Given the description of an element on the screen output the (x, y) to click on. 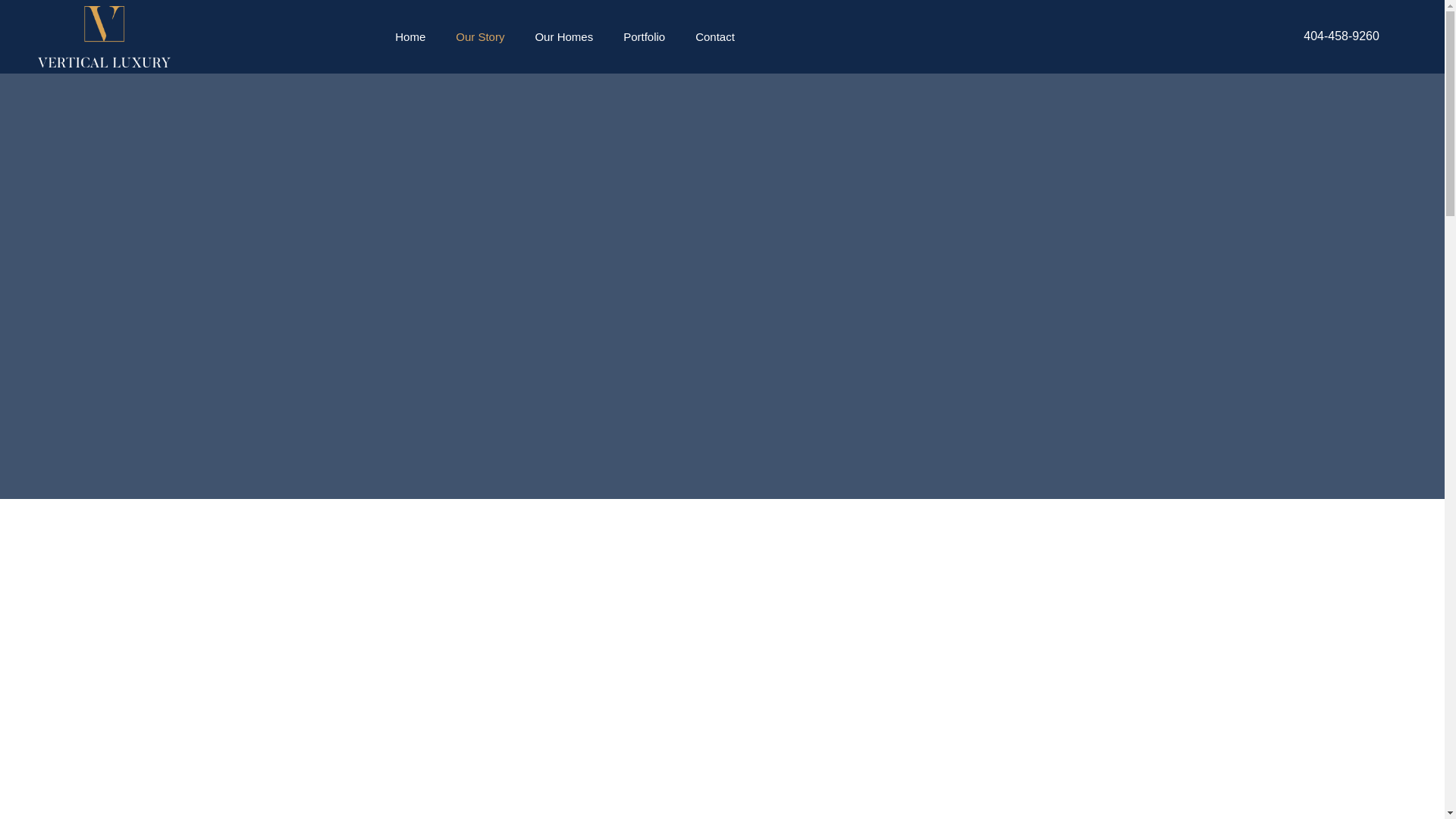
Our Story (480, 36)
Portfolio (643, 36)
Contact (714, 36)
Our Homes (563, 36)
404-458-9260 (1340, 35)
